Given the description of an element on the screen output the (x, y) to click on. 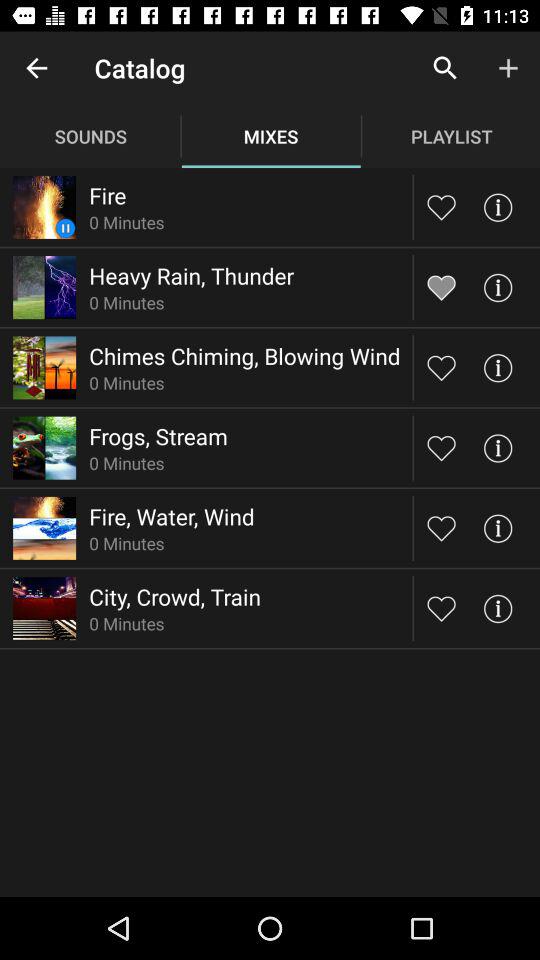
to like the picture (441, 527)
